Given the description of an element on the screen output the (x, y) to click on. 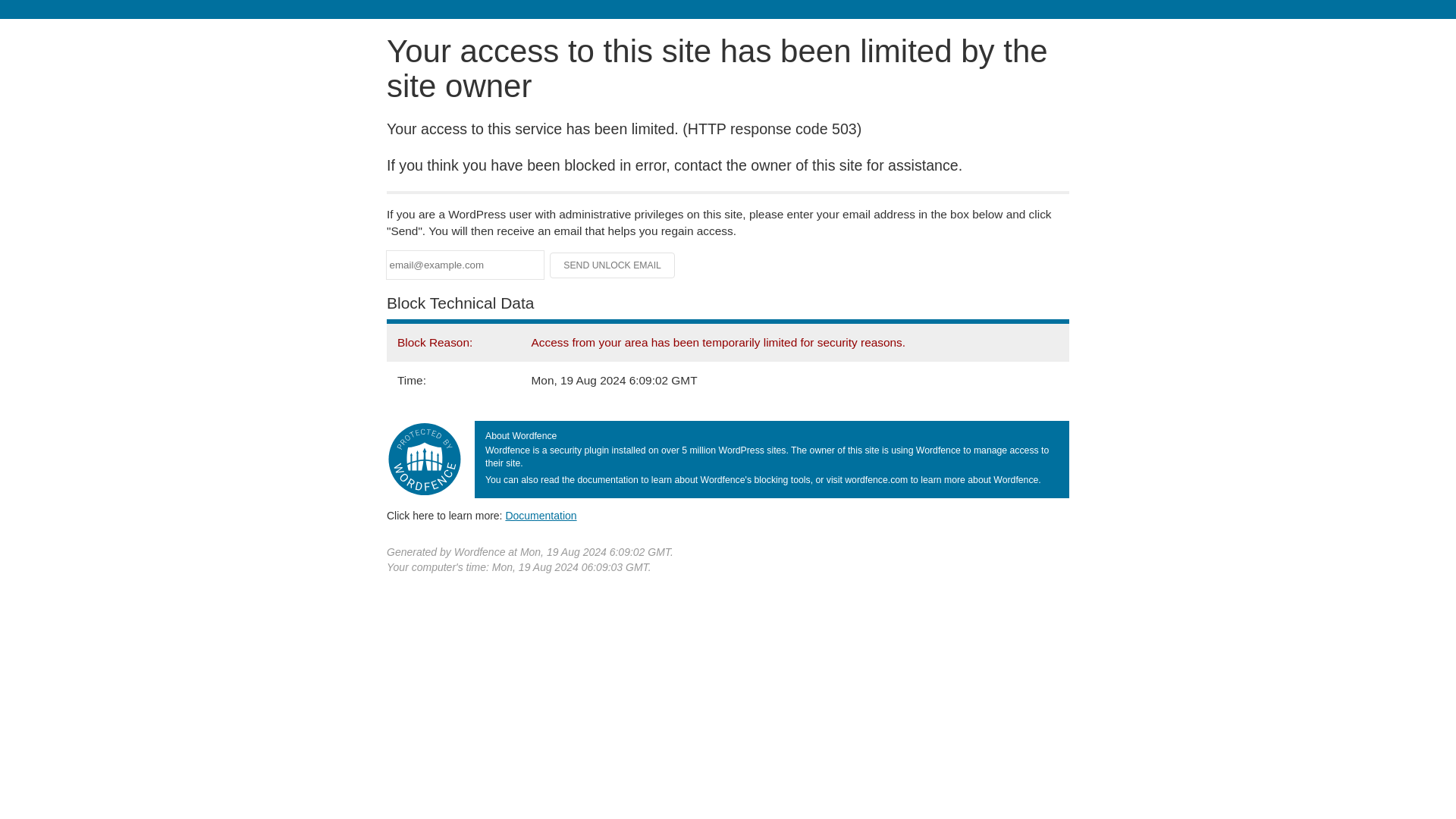
Documentation (540, 515)
Send Unlock Email (612, 265)
Send Unlock Email (612, 265)
